Given the description of an element on the screen output the (x, y) to click on. 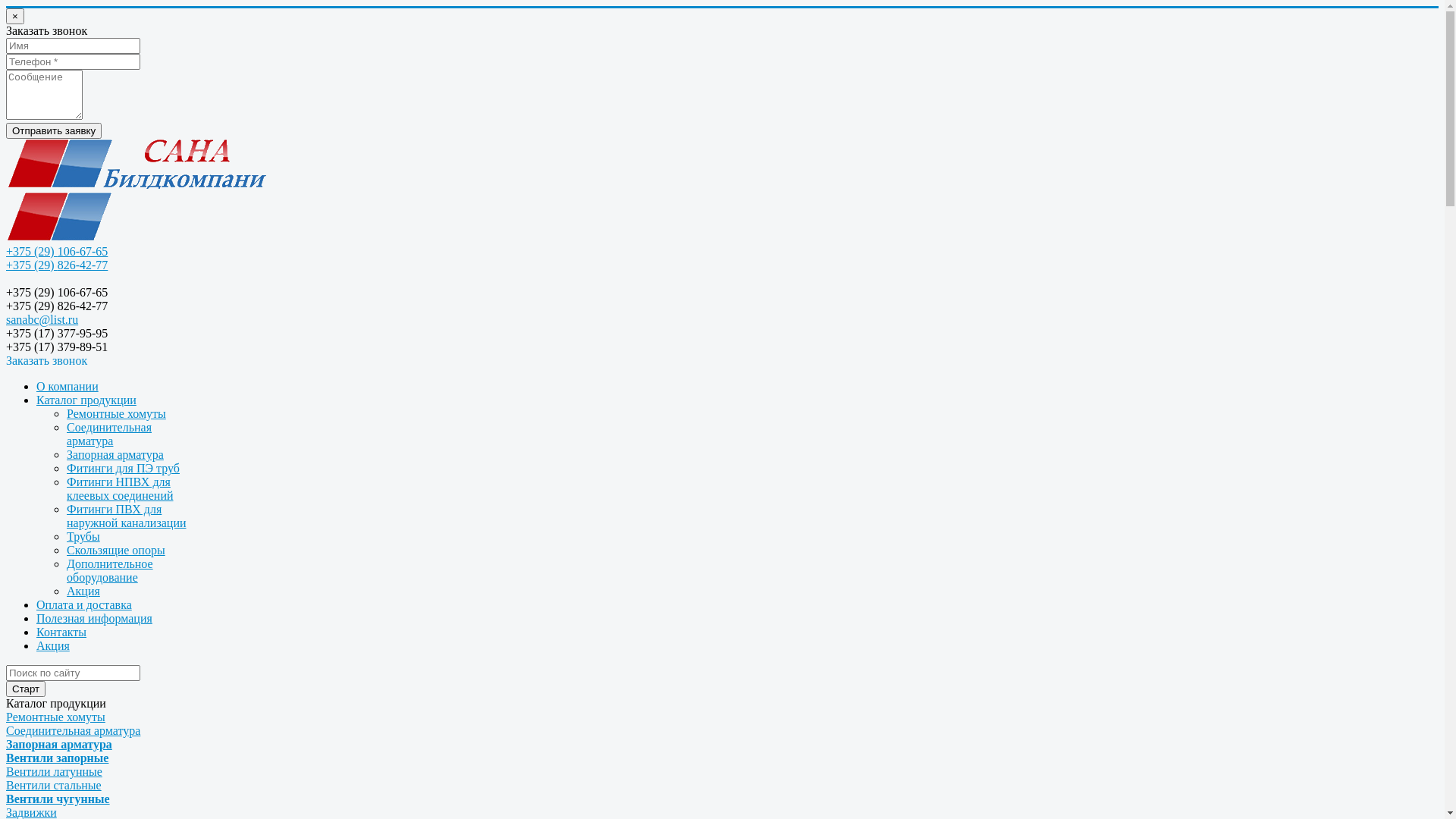
+375 (29) 106-67-65 Element type: text (56, 250)
+375 (29) 826-42-77 Element type: text (56, 264)
sanabc@list.ru Element type: text (42, 319)
